Given the description of an element on the screen output the (x, y) to click on. 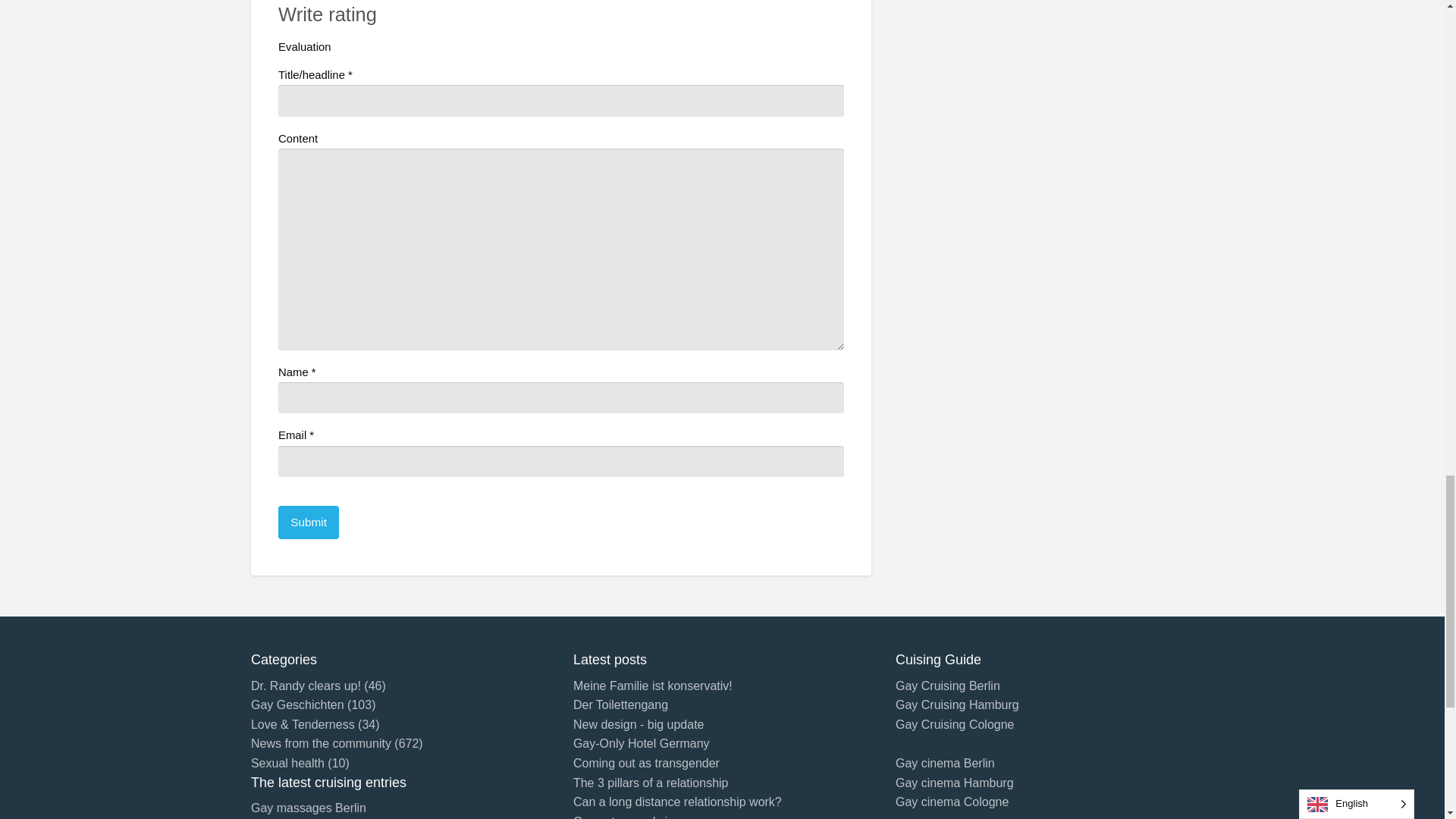
Gay massages Berlin (308, 807)
Submit (308, 522)
